Given the description of an element on the screen output the (x, y) to click on. 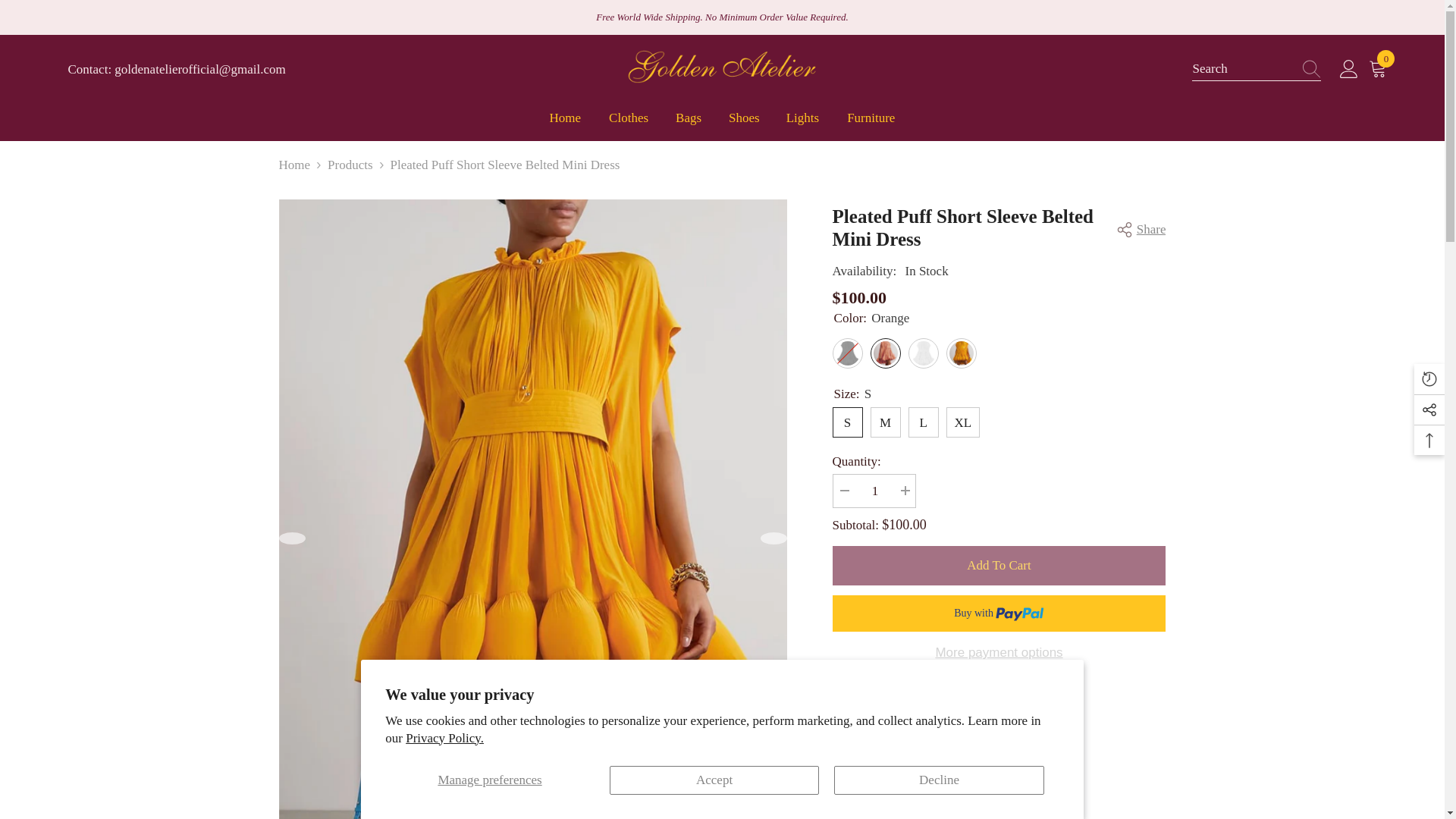
Accept (714, 779)
Privacy Policy. (444, 738)
Shoes (743, 124)
Lights (802, 124)
Manage preferences (489, 779)
Clothes (628, 124)
Log in (1348, 69)
1 (873, 490)
Home (1380, 69)
Decline (565, 124)
Bags (938, 779)
